Given the description of an element on the screen output the (x, y) to click on. 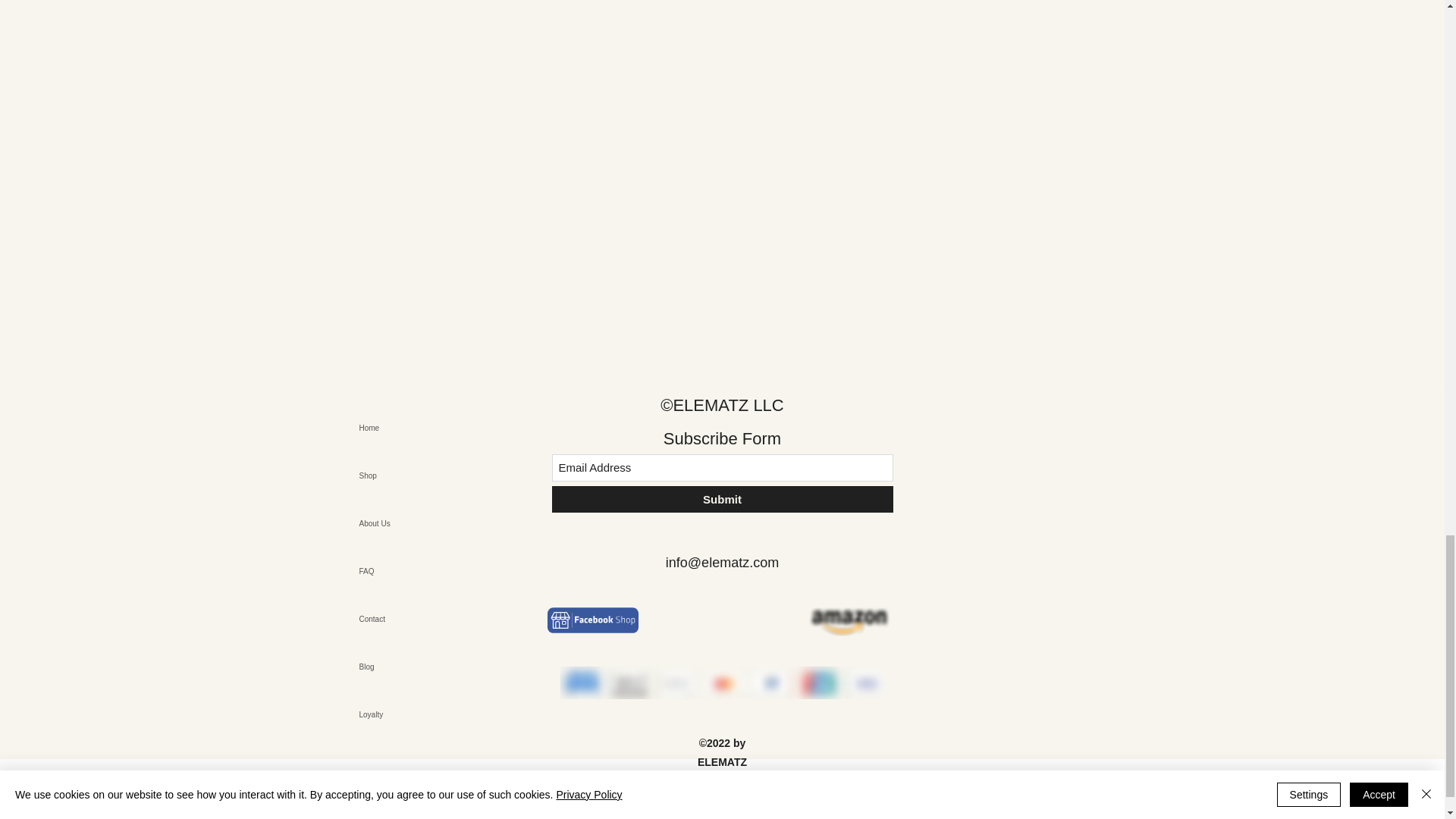
Contact (411, 618)
FAQ (411, 571)
Home (411, 428)
Blog (411, 666)
Shop (411, 475)
About Us (411, 523)
